Given the description of an element on the screen output the (x, y) to click on. 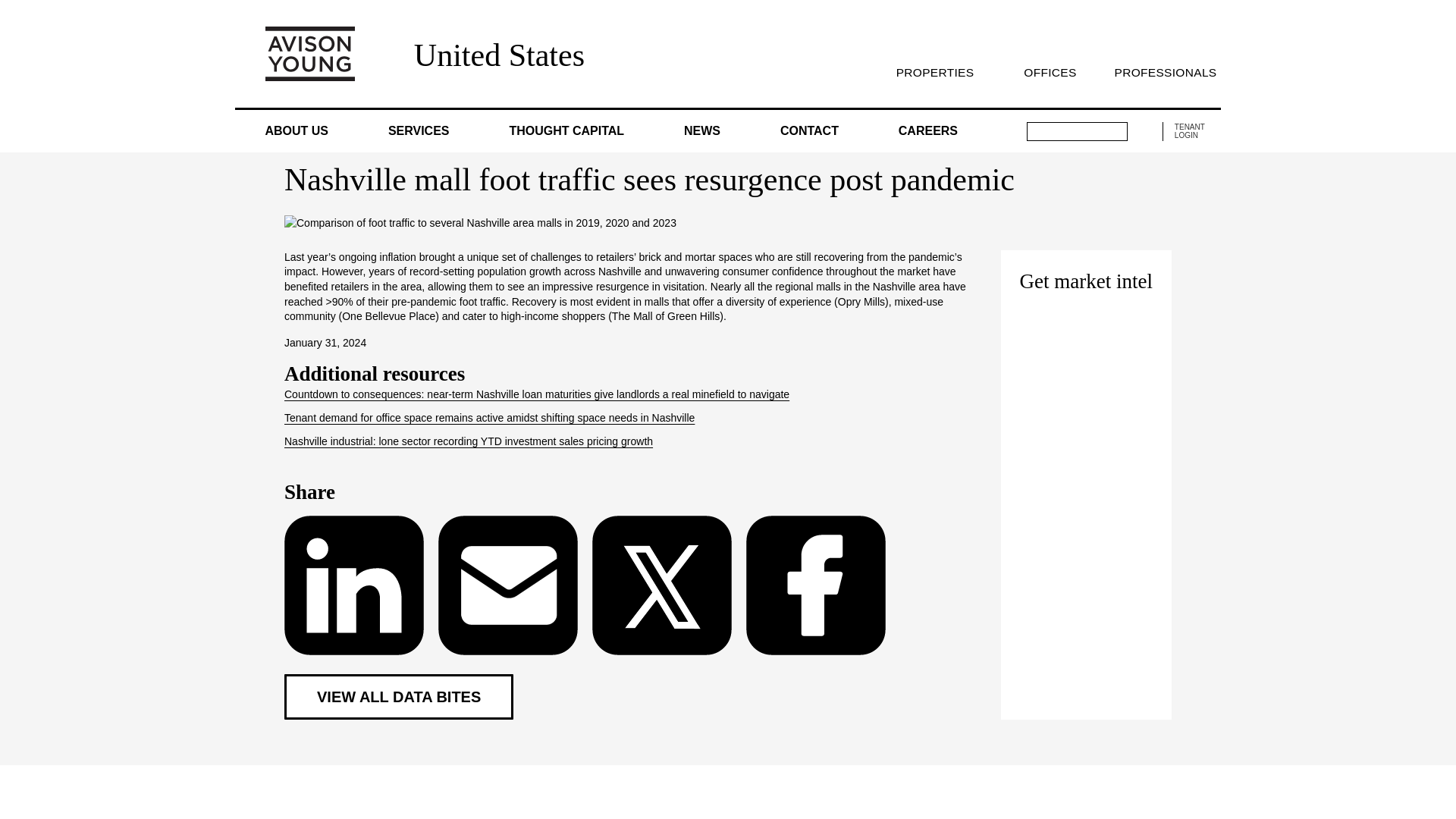
Skip to Main Content (5, 5)
United States (499, 54)
PROPERTIES (934, 72)
OFFICES (1049, 72)
